Given the description of an element on the screen output the (x, y) to click on. 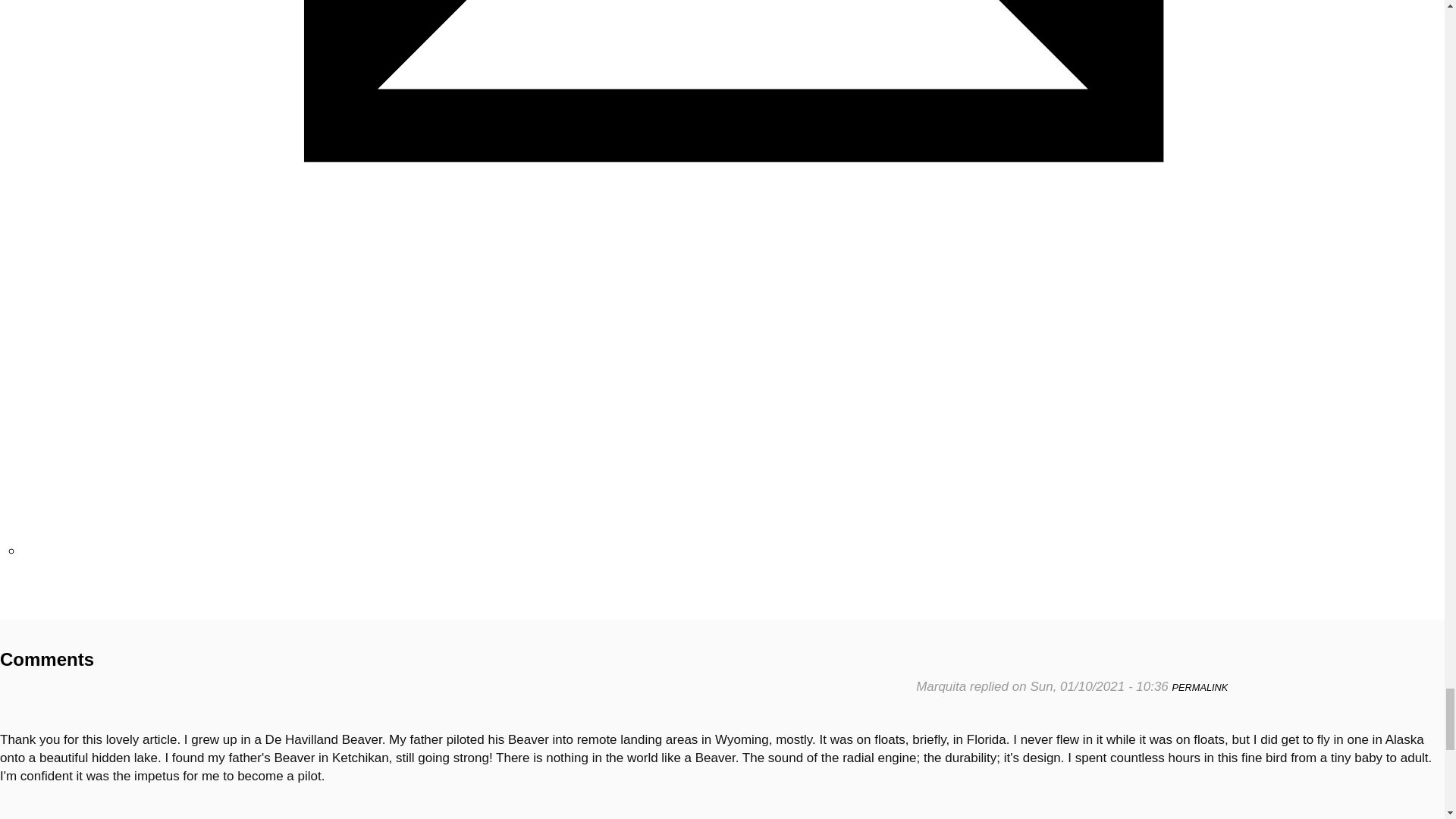
PERMALINK (1200, 686)
Share your thoughts and opinions related to this posting. (50, 609)
ADD NEW COMMENT (50, 609)
